Given the description of an element on the screen output the (x, y) to click on. 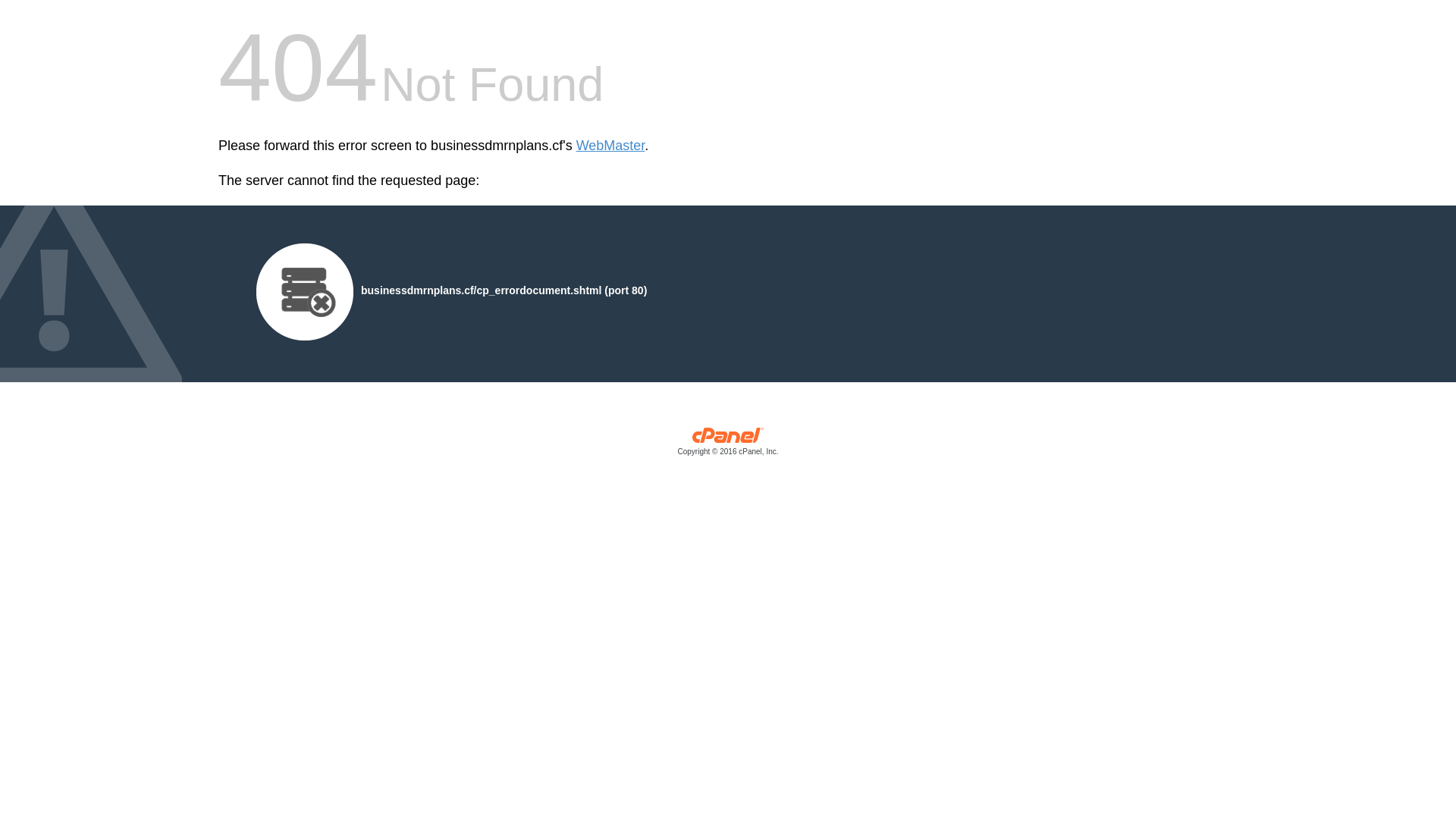
WebMaster Element type: text (610, 145)
